Given the description of an element on the screen output the (x, y) to click on. 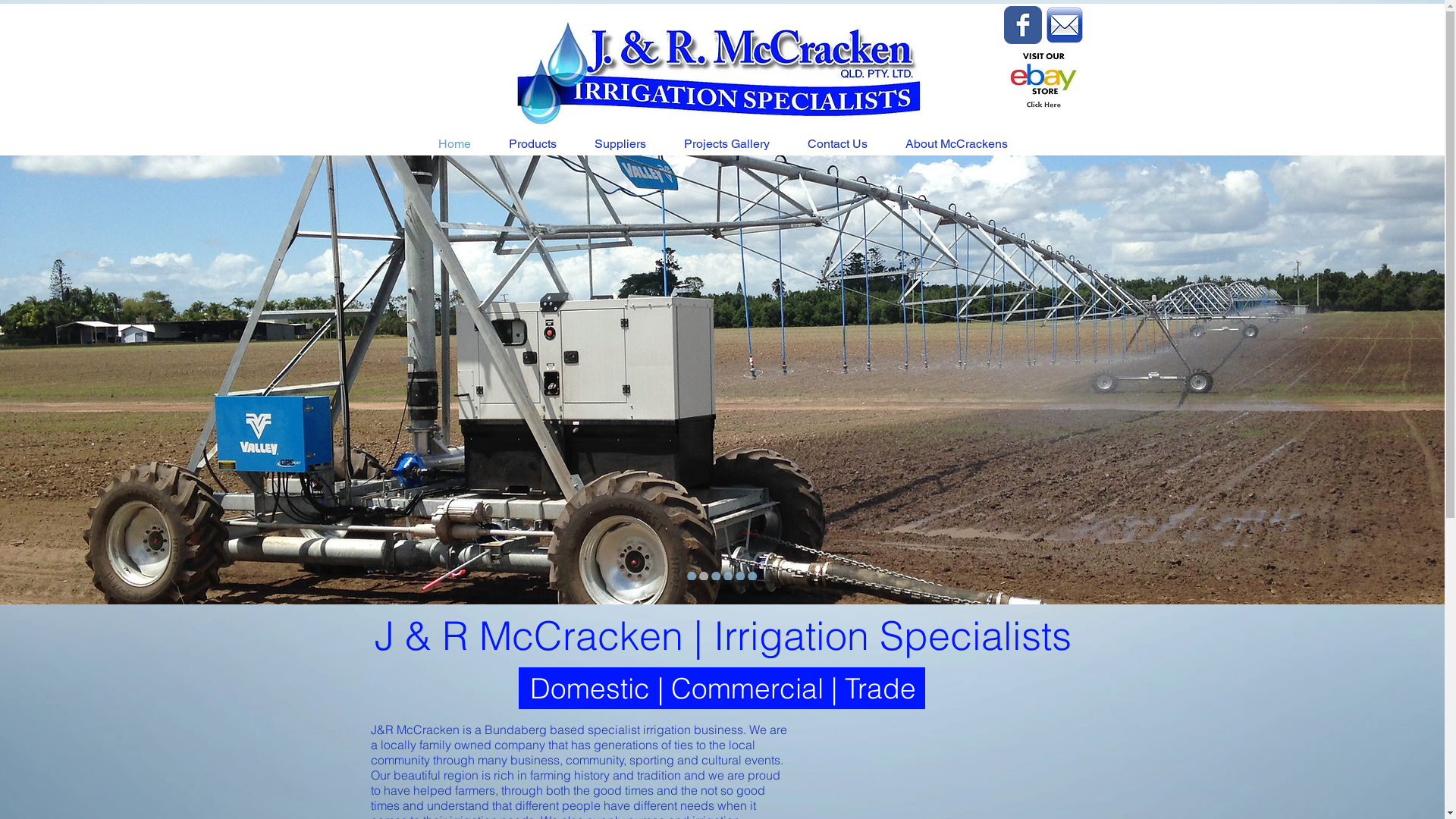
Home Element type: text (453, 143)
Products Element type: text (532, 143)
Contact Us Element type: text (837, 143)
ebay store 2.jpg Element type: hover (1043, 79)
Projects Gallery Element type: text (725, 143)
About McCrackens Element type: text (955, 143)
Suppliers Element type: text (619, 143)
